Given the description of an element on the screen output the (x, y) to click on. 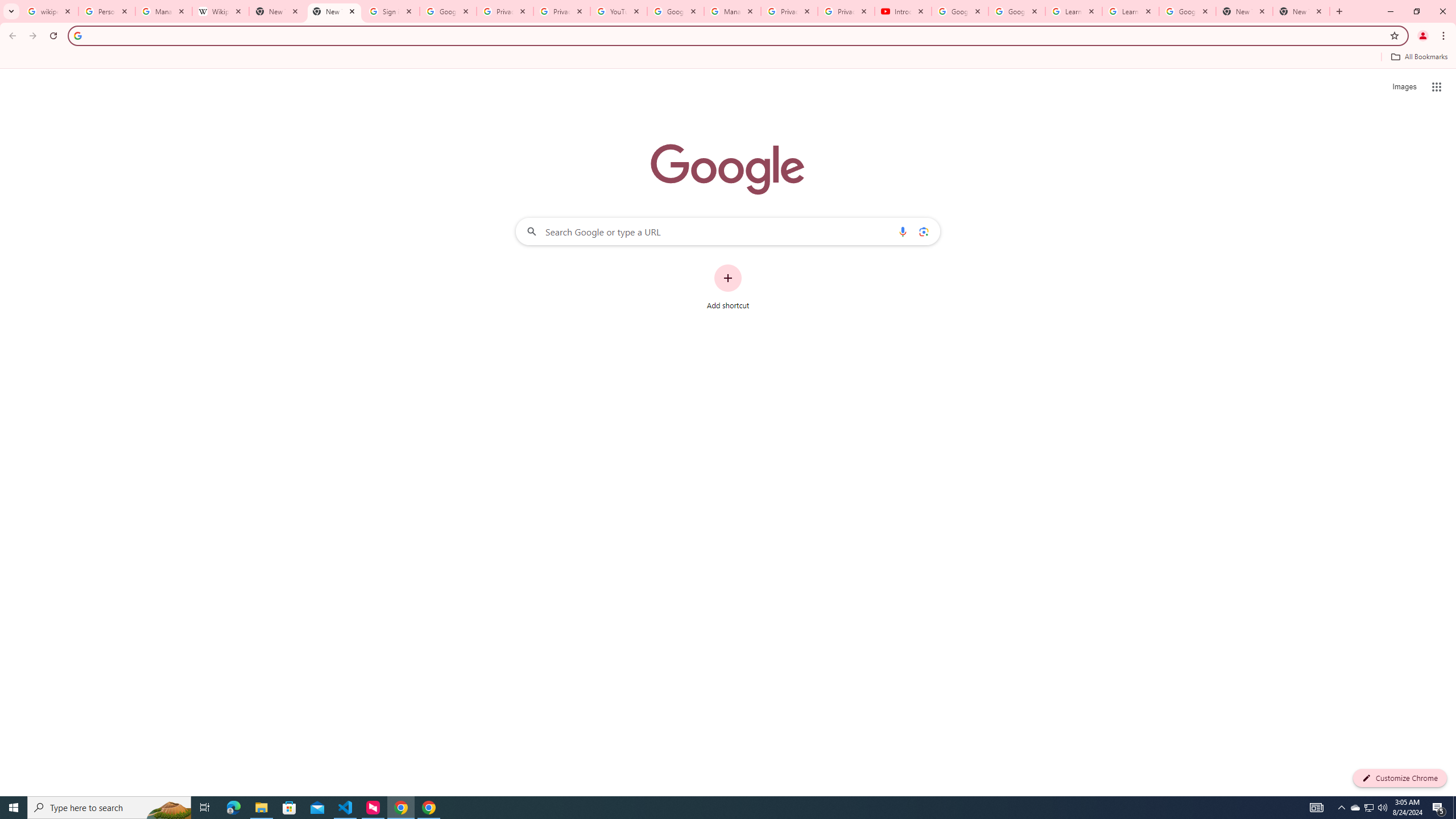
Google Drive: Sign-in (447, 11)
Bookmarks (728, 58)
Sign in - Google Accounts (391, 11)
Wikipedia:Edit requests - Wikipedia (220, 11)
Manage your Location History - Google Search Help (163, 11)
Google Account (1187, 11)
